Given the description of an element on the screen output the (x, y) to click on. 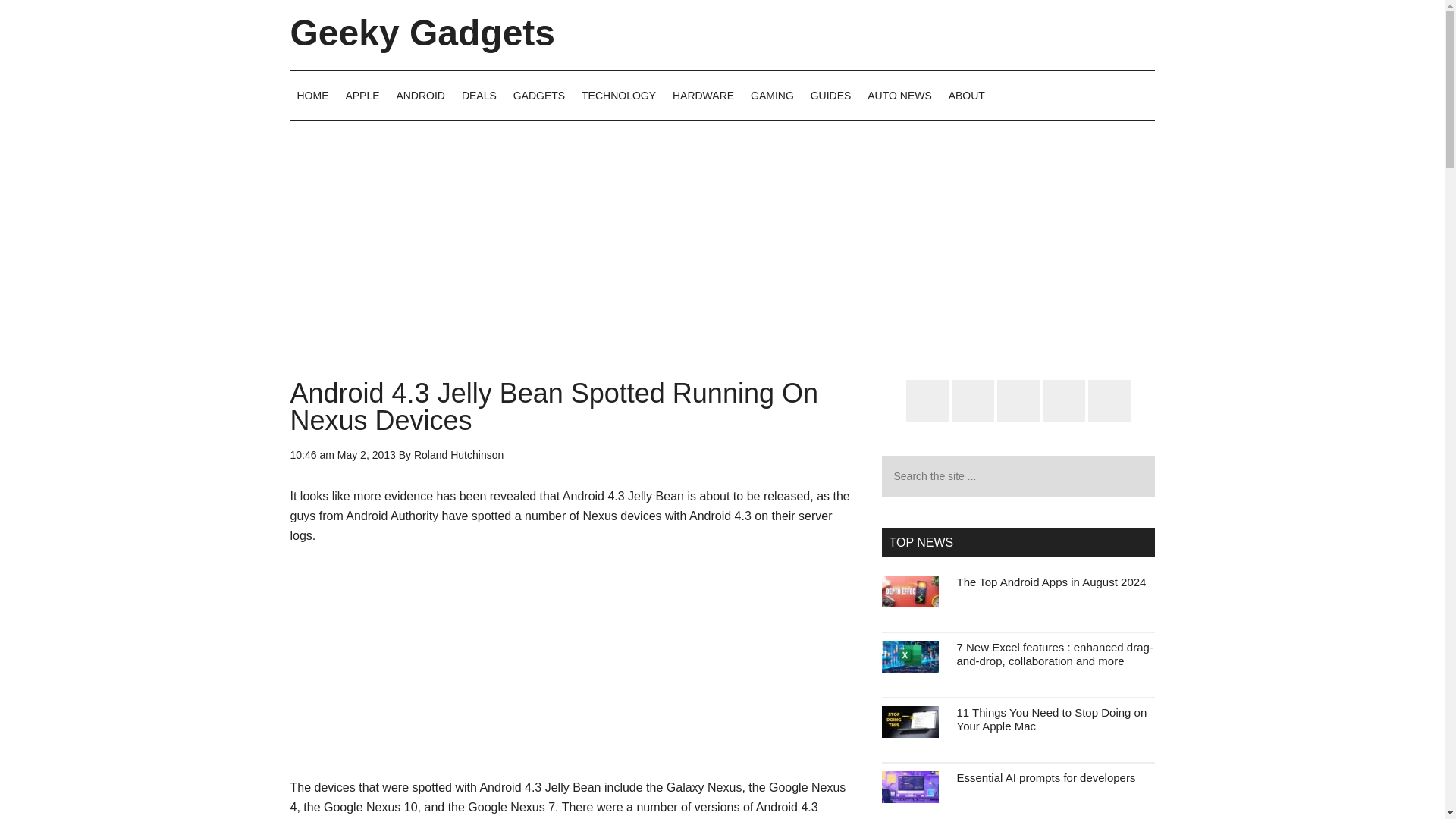
ANDROID (419, 95)
ABOUT (966, 95)
About Geeky Gadgets (966, 95)
GADGETS (539, 95)
APPLE (361, 95)
DEALS (478, 95)
HOME (311, 95)
Geeky Gadgets (421, 33)
